Given the description of an element on the screen output the (x, y) to click on. 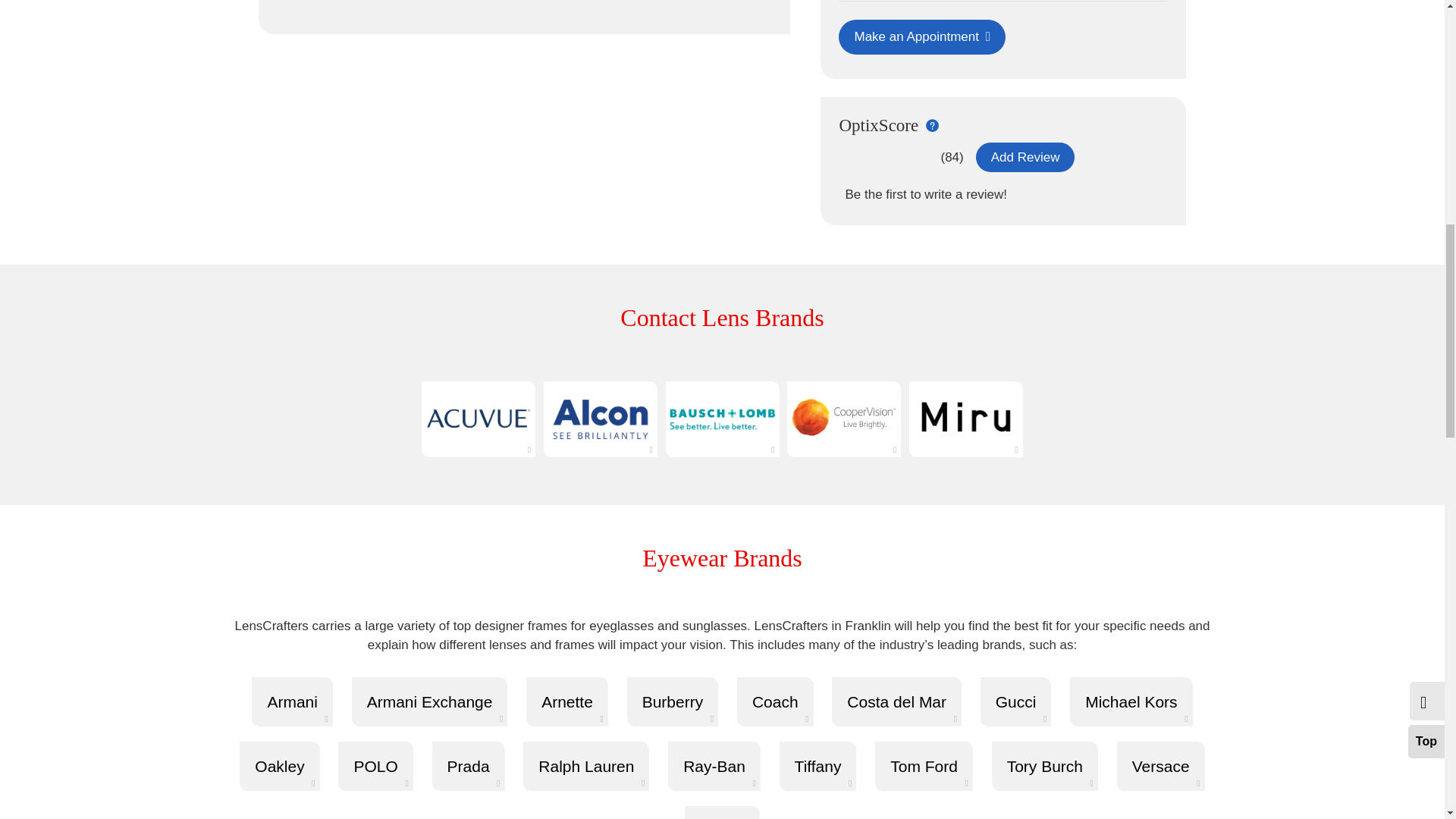
Rated 4.5 out of 5 stars (887, 157)
Make an Appointment (921, 36)
LensCrafters Appointment (921, 36)
Add Review (1025, 156)
Based on 84 rating signals (951, 157)
